Given the description of an element on the screen output the (x, y) to click on. 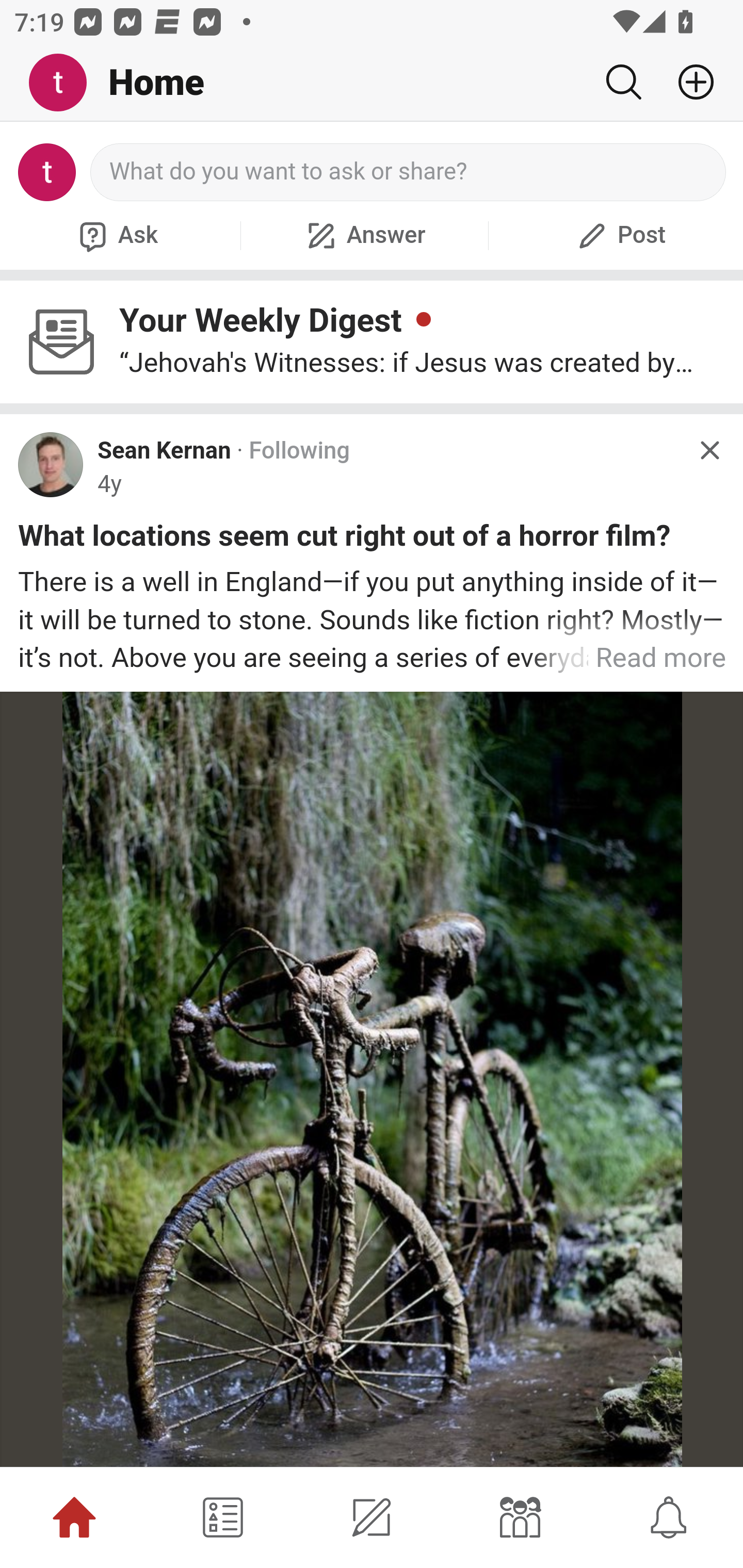
Me Home Search Add (371, 82)
Me (64, 83)
Search (623, 82)
Add (688, 82)
